Given the description of an element on the screen output the (x, y) to click on. 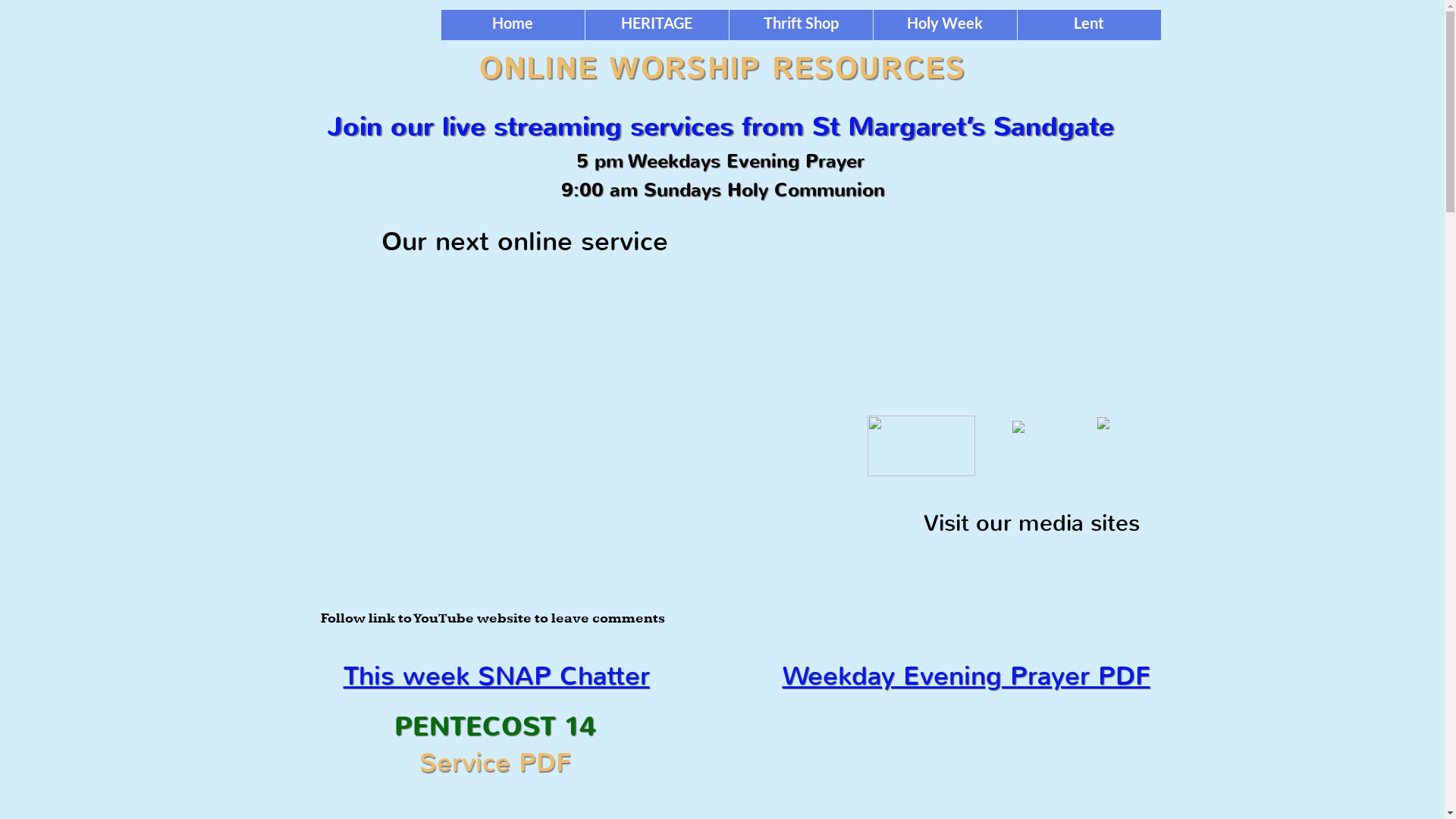
PENTECOST 14 Element type: text (495, 726)
This week SNAP Chatter Element type: text (495, 675)
Service PDF Element type: text (495, 762)
Weekday Evening Prayer PDF Element type: text (966, 675)
